Given the description of an element on the screen output the (x, y) to click on. 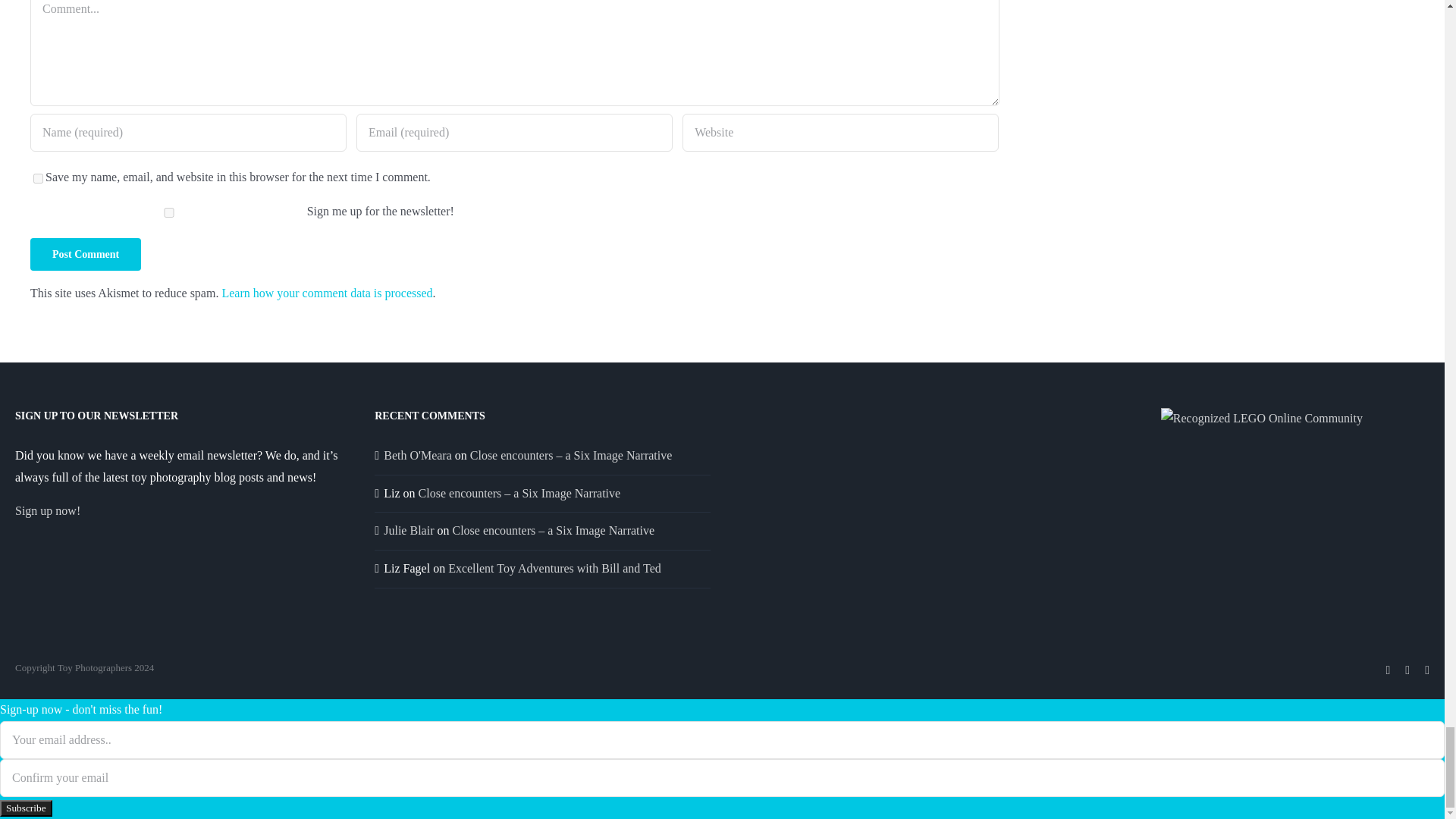
Subscribe (26, 808)
1 (168, 212)
yes (38, 178)
Post Comment (85, 254)
